Given the description of an element on the screen output the (x, y) to click on. 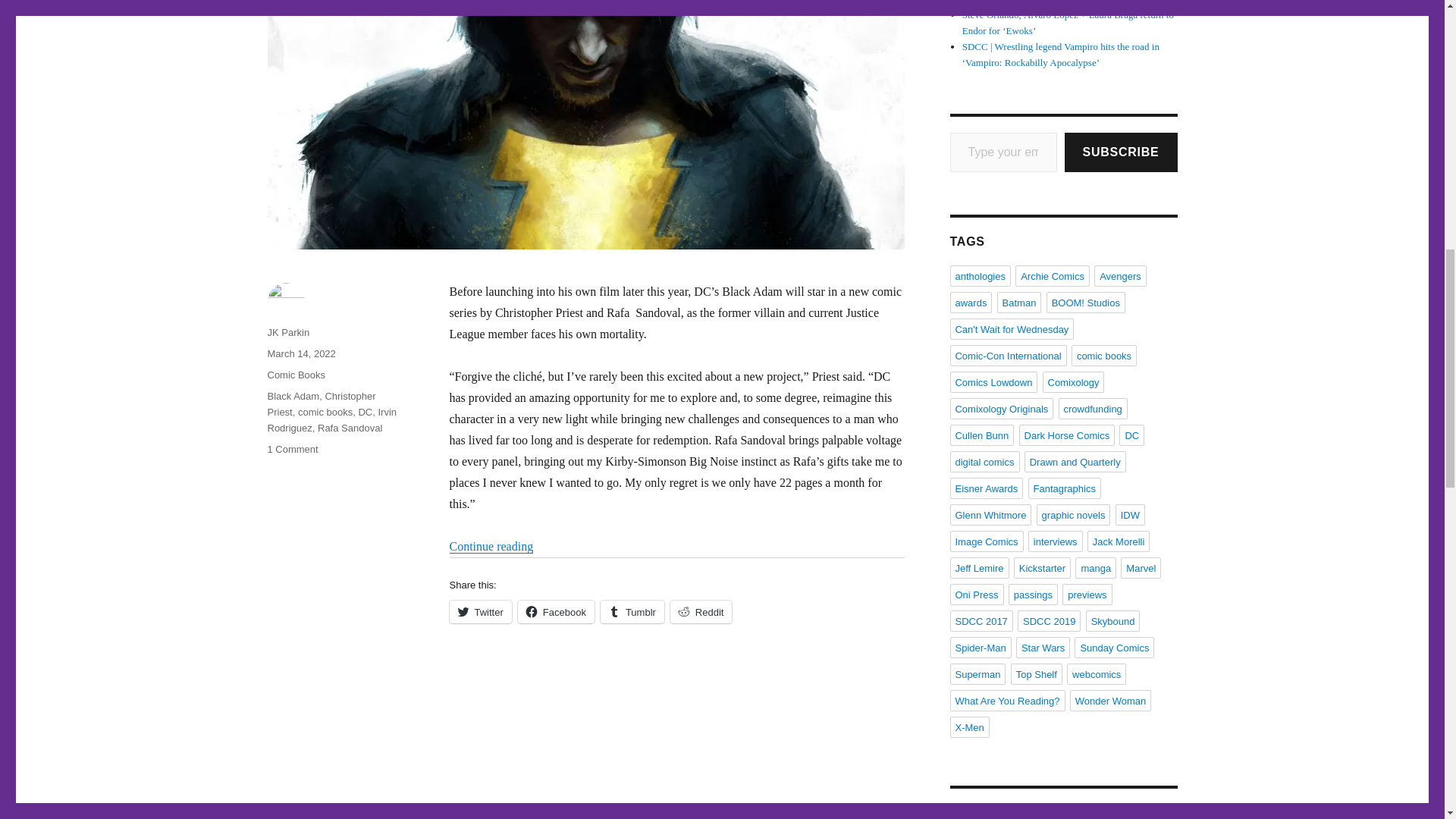
Avengers (1120, 275)
Comic Books (295, 374)
Christopher Priest (320, 403)
JK Parkin (287, 332)
Irvin Rodriguez (331, 420)
Click to share on Facebook (556, 611)
SUBSCRIBE (1120, 152)
Rafa Sandoval (349, 428)
anthologies (979, 275)
Tumblr (631, 611)
Click to share on Tumblr (631, 611)
Black Adam (292, 396)
Click to share on Twitter (479, 611)
Please fill in this field. (1003, 152)
Facebook (556, 611)
